Given the description of an element on the screen output the (x, y) to click on. 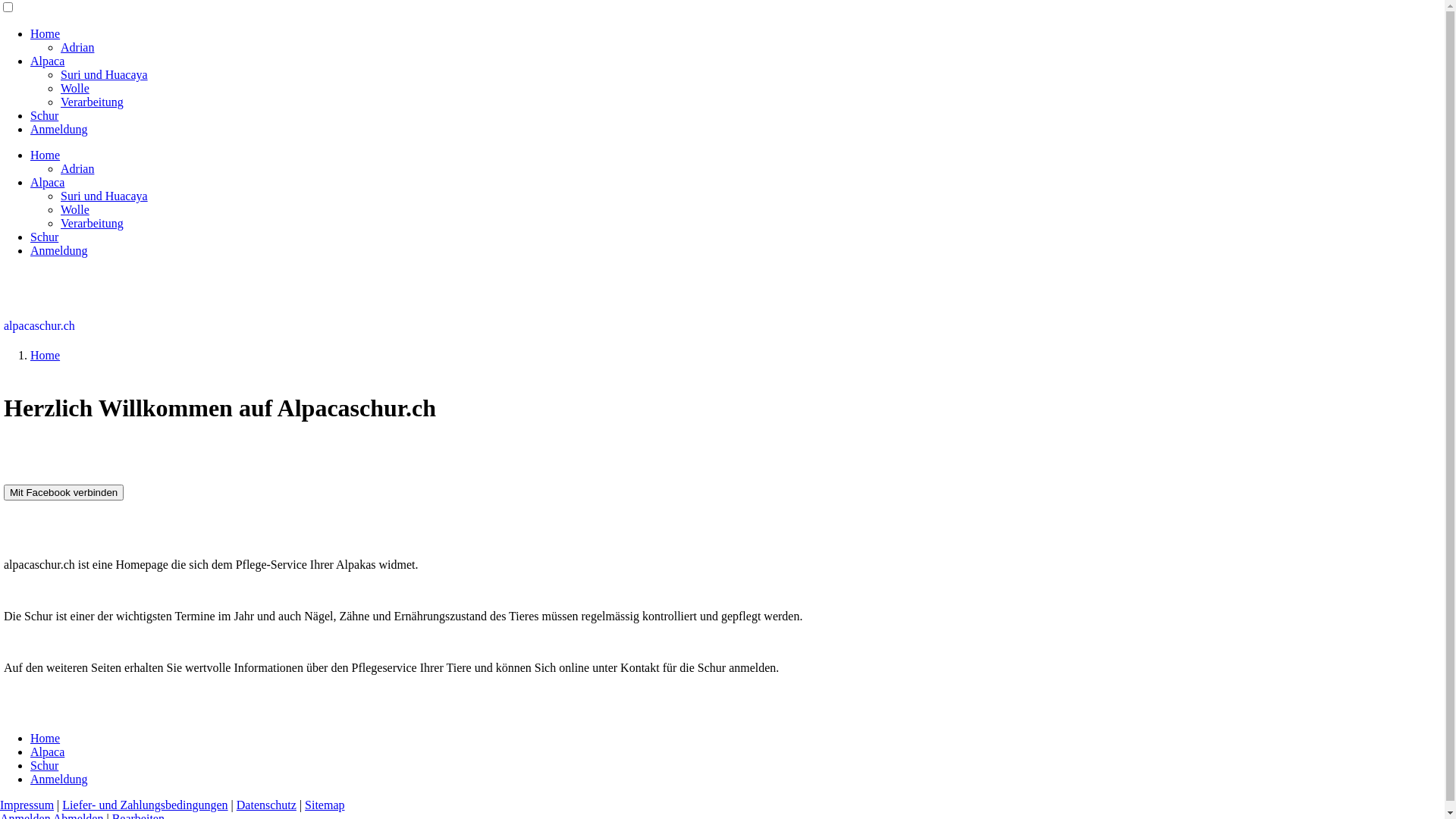
Suri und Huacaya Element type: text (103, 74)
Anmeldung Element type: text (58, 250)
Home Element type: text (44, 154)
alpacaschur.ch Element type: text (39, 325)
Impressum Element type: text (26, 804)
Mit Facebook verbinden Element type: text (63, 492)
Alpaca Element type: text (47, 751)
Suri und Huacaya Element type: text (103, 195)
Wolle Element type: text (74, 87)
Schur Element type: text (44, 115)
Alpaca Element type: text (47, 60)
Alpaca Element type: text (47, 181)
Home Element type: text (44, 33)
Adrian Element type: text (77, 46)
Schur Element type: text (44, 236)
Datenschutz Element type: text (266, 804)
Verarbeitung Element type: text (91, 101)
Home Element type: text (44, 354)
Adrian Element type: text (77, 168)
Home Element type: text (44, 737)
Schur Element type: text (44, 765)
Verarbeitung Element type: text (91, 222)
Anmeldung Element type: text (58, 778)
Liefer- und Zahlungsbedingungen Element type: text (144, 804)
Anmeldung Element type: text (58, 128)
Wolle Element type: text (74, 209)
Sitemap Element type: text (324, 804)
